Given the description of an element on the screen output the (x, y) to click on. 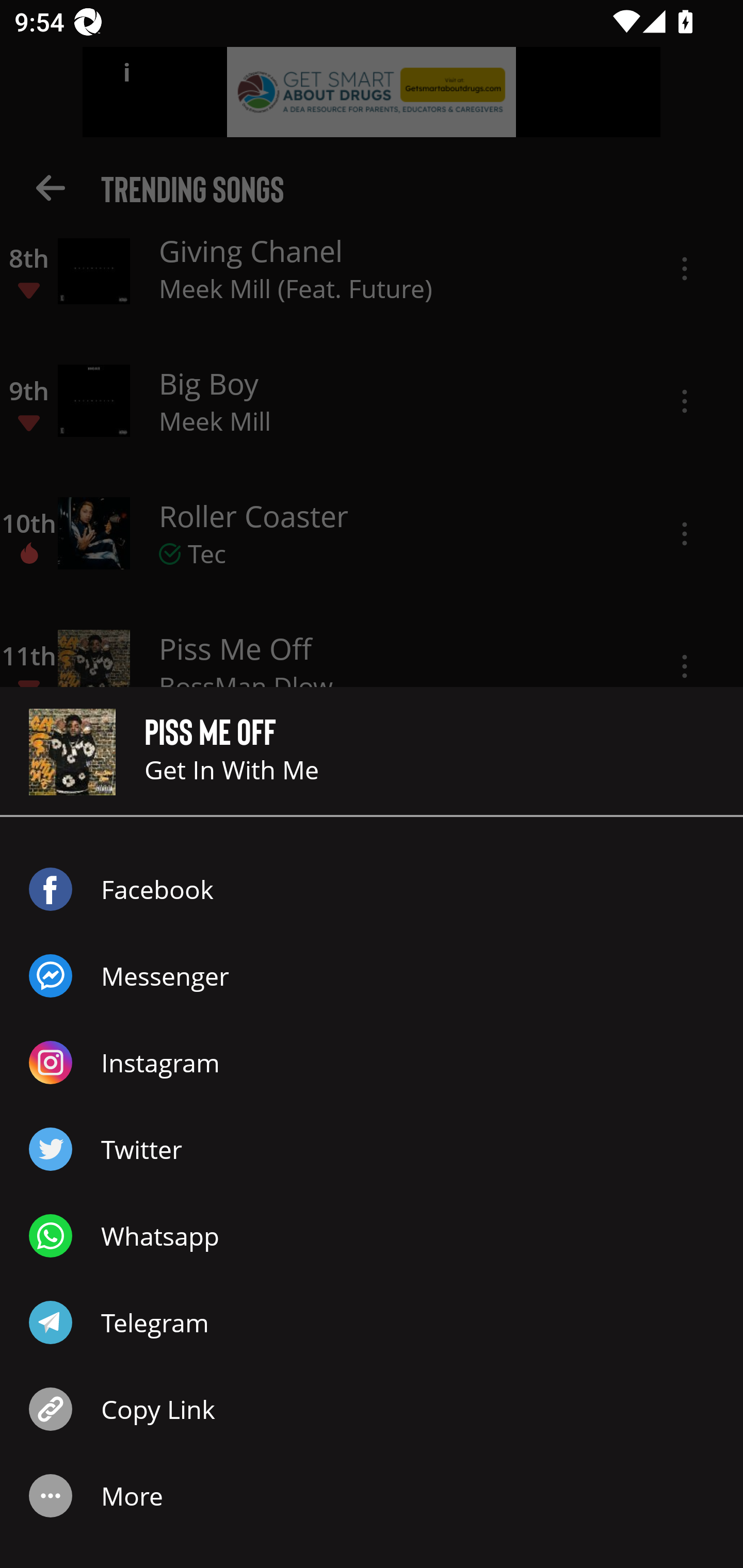
Facebook (371, 888)
Messenger (371, 975)
Instagram (371, 1062)
Twitter (371, 1149)
Whatsapp (371, 1236)
Telegram (371, 1322)
Copy Link (371, 1408)
More (371, 1495)
